Given the description of an element on the screen output the (x, y) to click on. 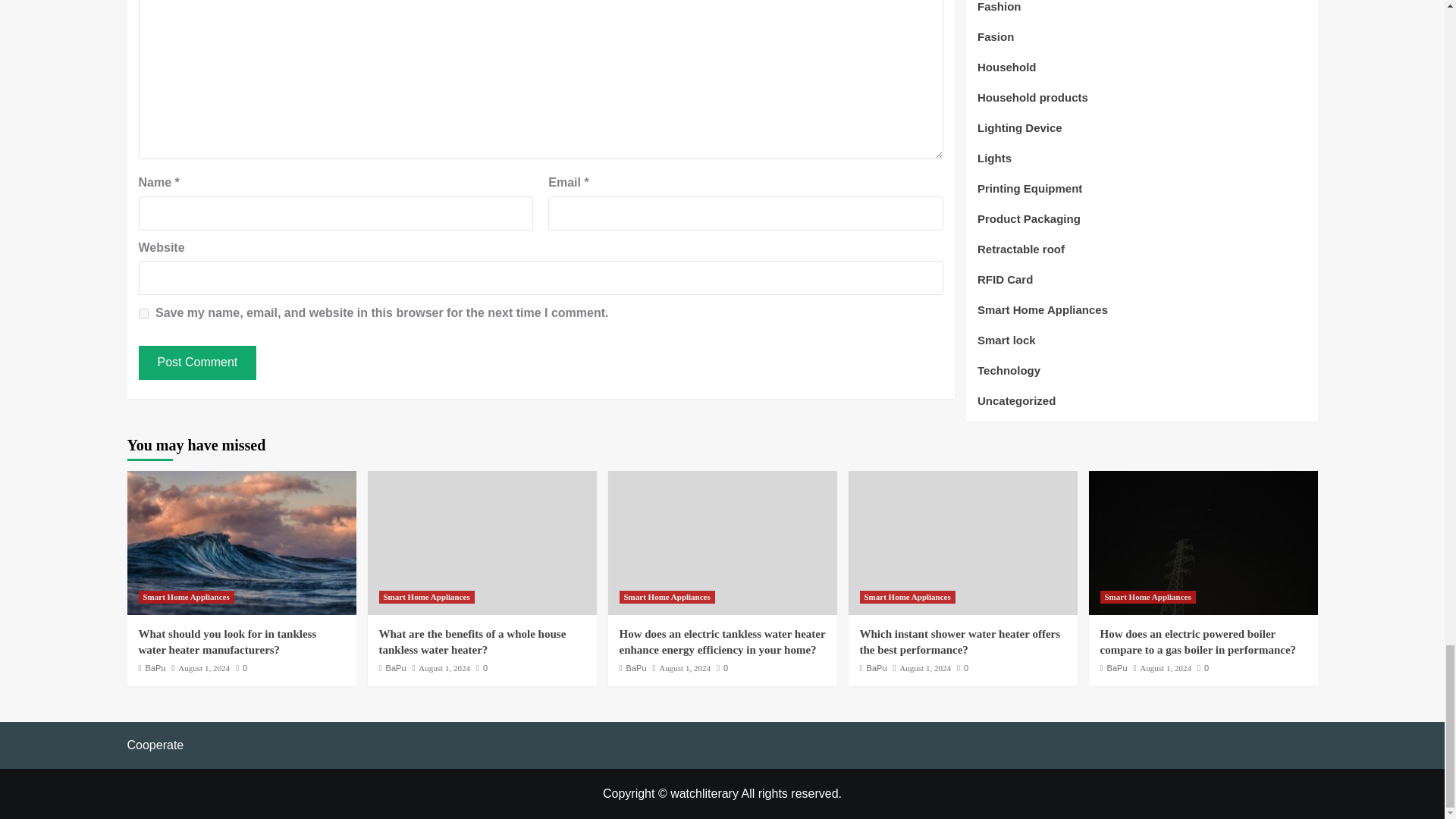
Post Comment (197, 362)
Post Comment (197, 362)
yes (143, 313)
